Given the description of an element on the screen output the (x, y) to click on. 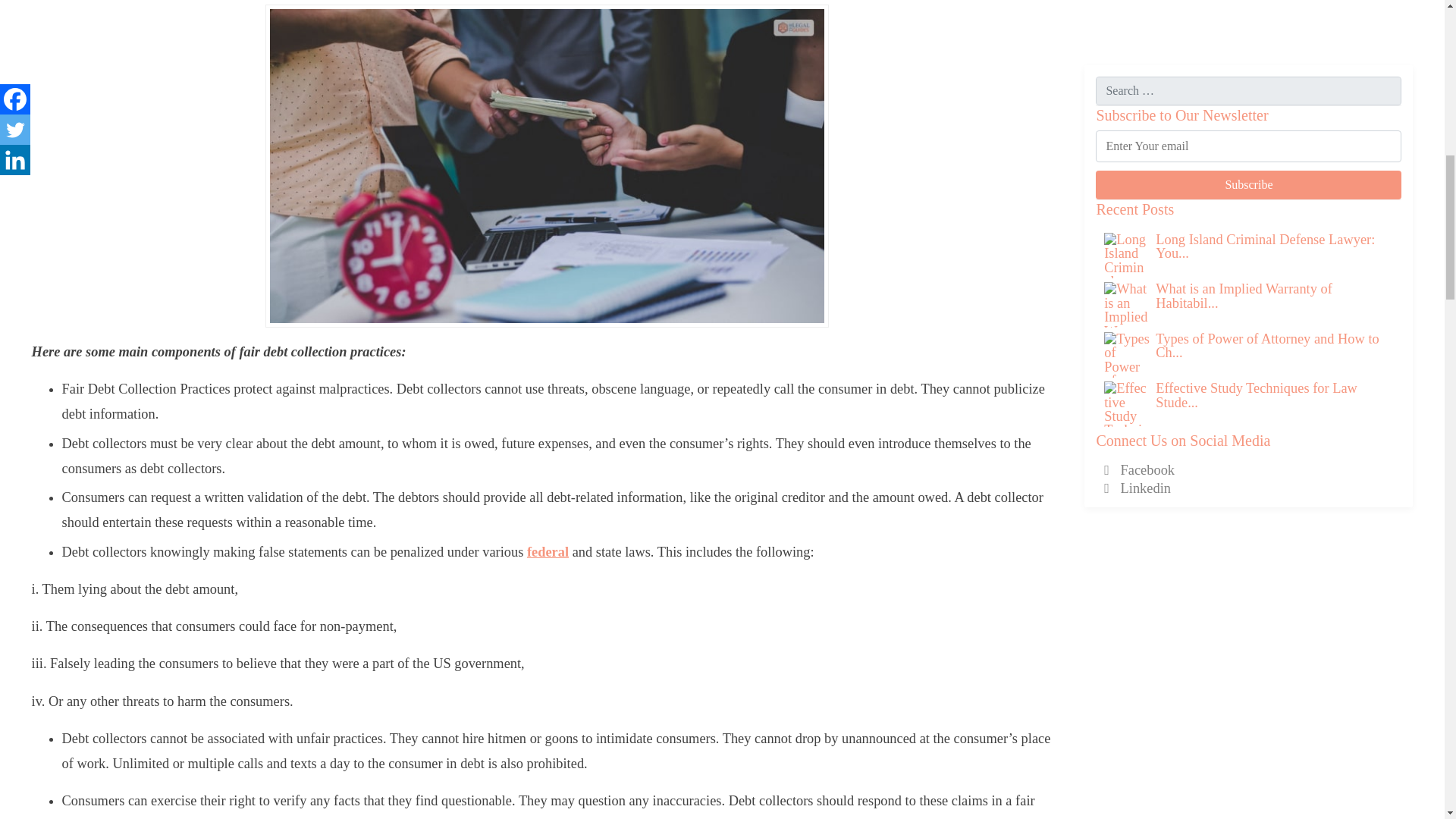
Subscribe (1248, 13)
Types of Power of Attorney and How to Ch... (1267, 174)
federal (548, 551)
Facebook (1138, 298)
Subscribe (1248, 13)
Effective Study Techniques for Law Stude... (1256, 223)
Linkedin (1136, 316)
What is an Implied Warranty of Habitabil... (1244, 123)
Long Island Criminal Defense Lawyer: You... (1265, 74)
